Given the description of an element on the screen output the (x, y) to click on. 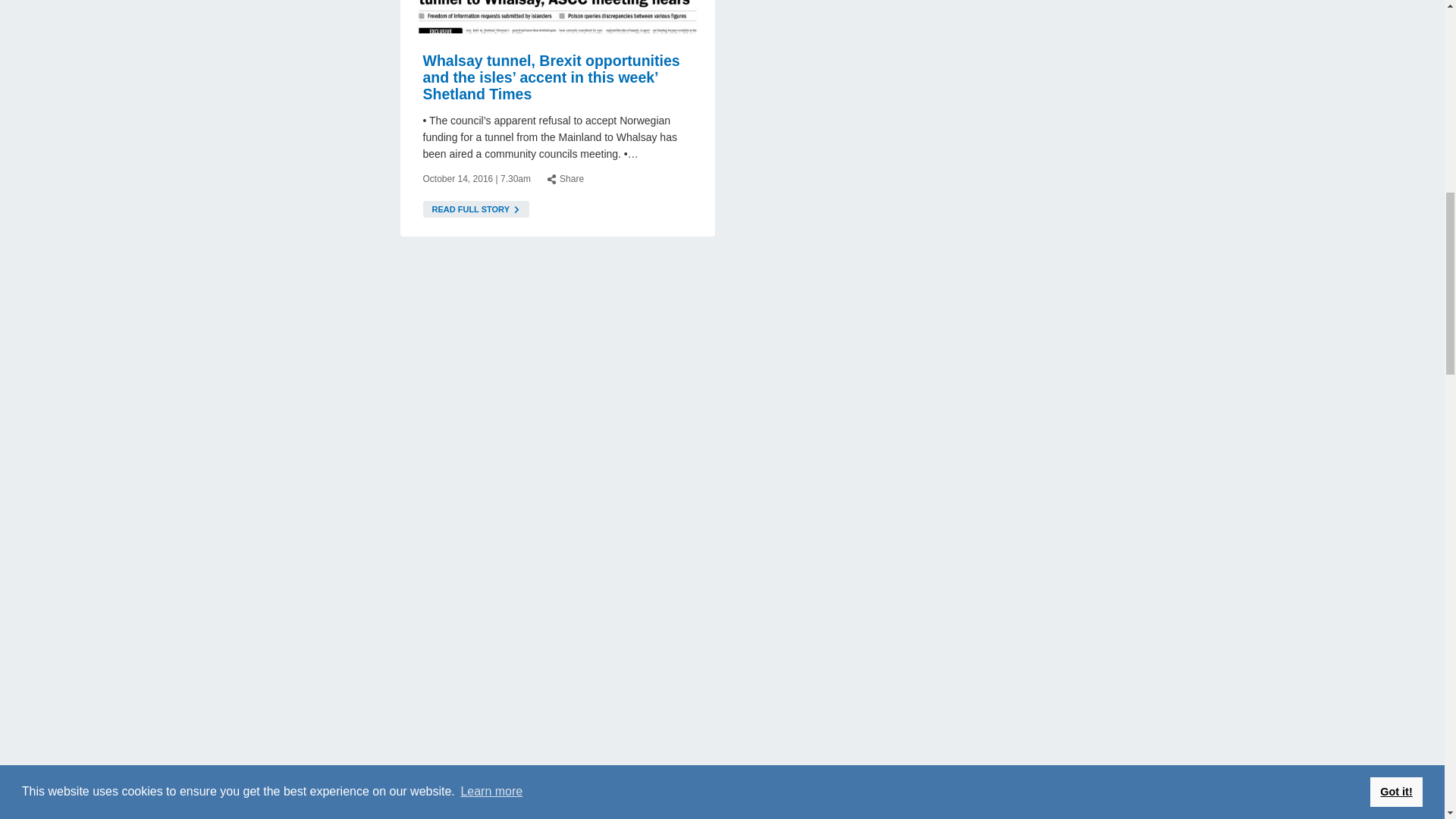
3rd party ad content (1176, 667)
3rd party ad content (266, 454)
3rd party ad content (266, 667)
3rd party ad content (266, 242)
3rd party ad content (1176, 242)
3rd party ad content (266, 62)
3rd party ad content (1176, 62)
3rd party ad content (1176, 454)
3rd party ad content (266, 801)
